Given the description of an element on the screen output the (x, y) to click on. 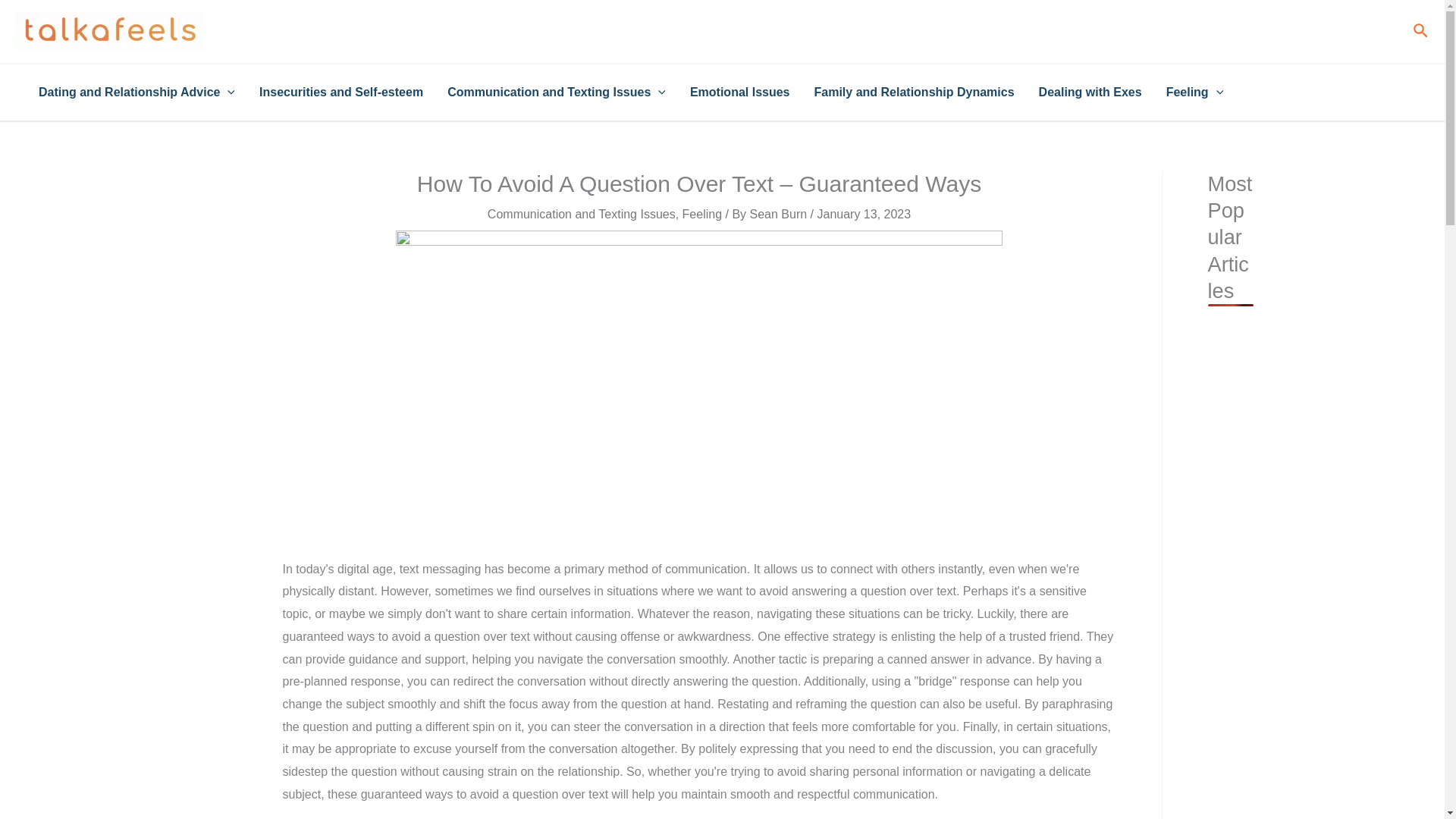
View all posts by Sean Burn (779, 214)
Dating and Relationship Advice (136, 92)
Family and Relationship Dynamics (914, 92)
Dealing with Exes (1090, 92)
Communication and Texting Issues (556, 92)
Insecurities and Self-esteem (341, 92)
Sean Burn (779, 214)
Feeling (1195, 92)
Feeling (702, 214)
Emotional Issues (740, 92)
Communication and Texting Issues (581, 214)
